Given the description of an element on the screen output the (x, y) to click on. 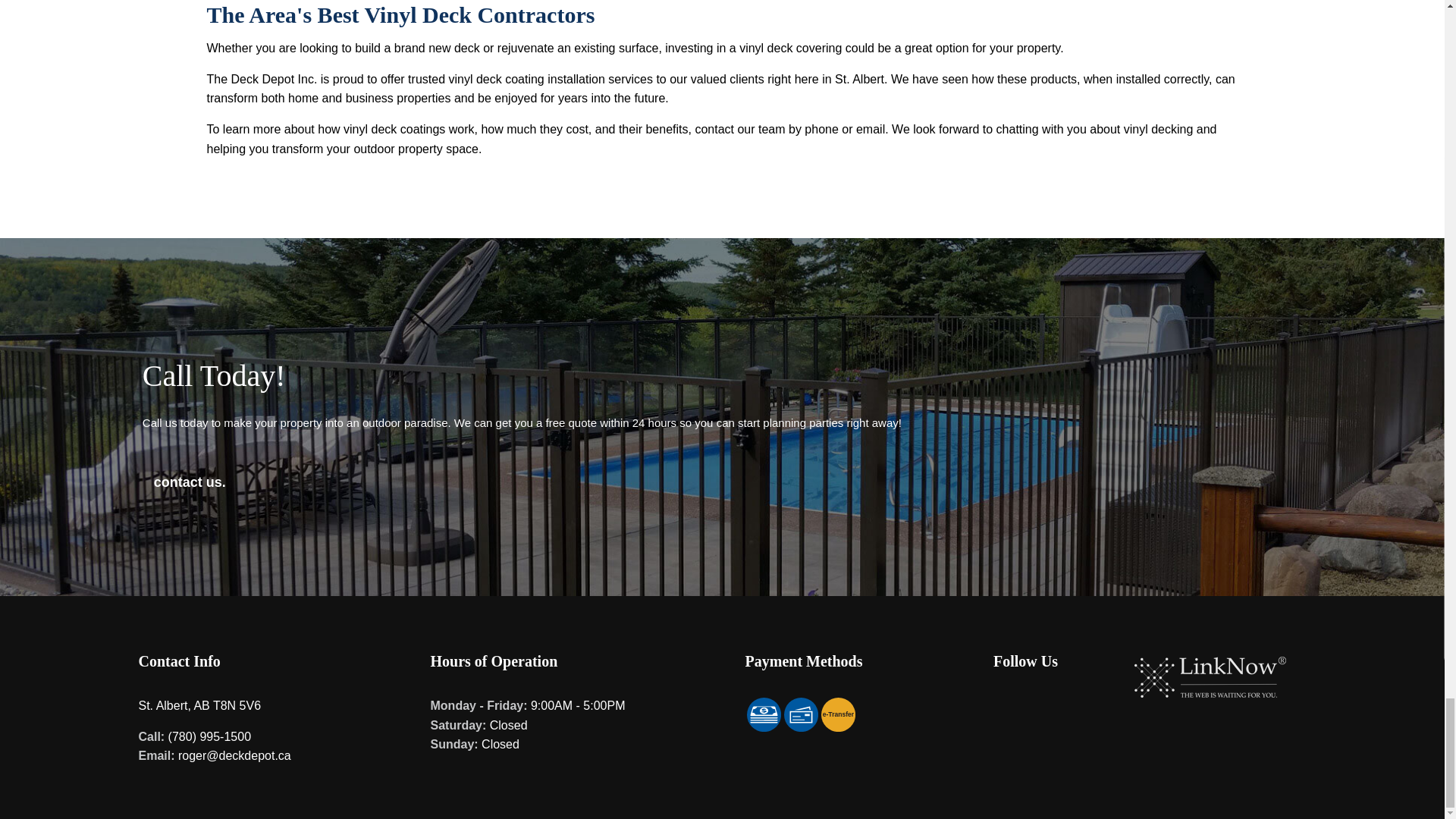
e-Transfer (837, 714)
